Given the description of an element on the screen output the (x, y) to click on. 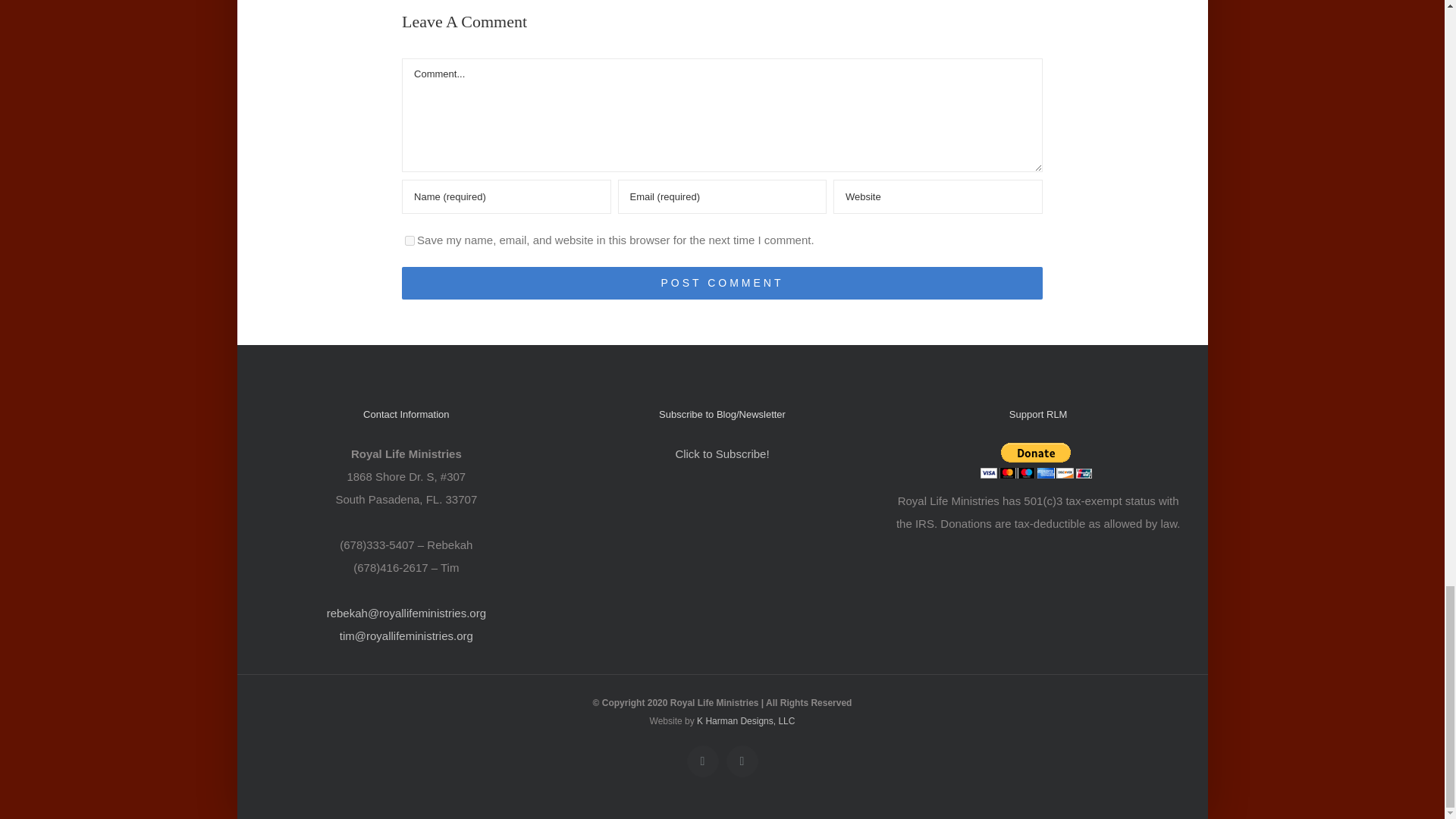
Post Comment (721, 282)
yes (409, 240)
